Given the description of an element on the screen output the (x, y) to click on. 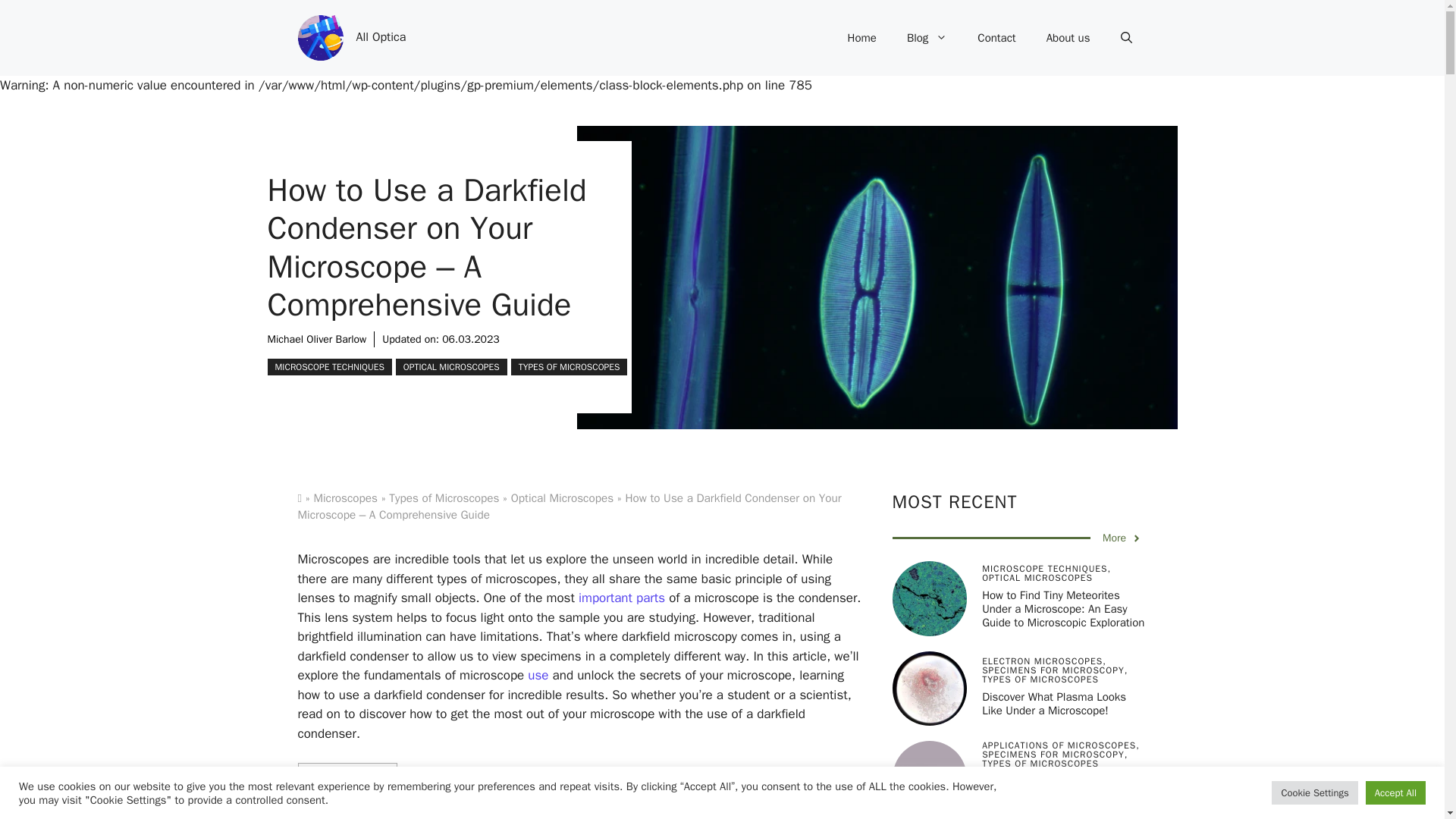
Optical Microscopes (561, 497)
Home (861, 37)
show (373, 780)
use (537, 675)
Blog (926, 37)
OPTICAL MICROSCOPES (451, 366)
About us (1067, 37)
important (604, 597)
Contact (996, 37)
Michael Oliver Barlow (316, 338)
Microscopes (345, 497)
MICROSCOPE TECHNIQUES (328, 366)
Types of Microscopes (443, 497)
parts (650, 597)
All Optica (381, 37)
